Given the description of an element on the screen output the (x, y) to click on. 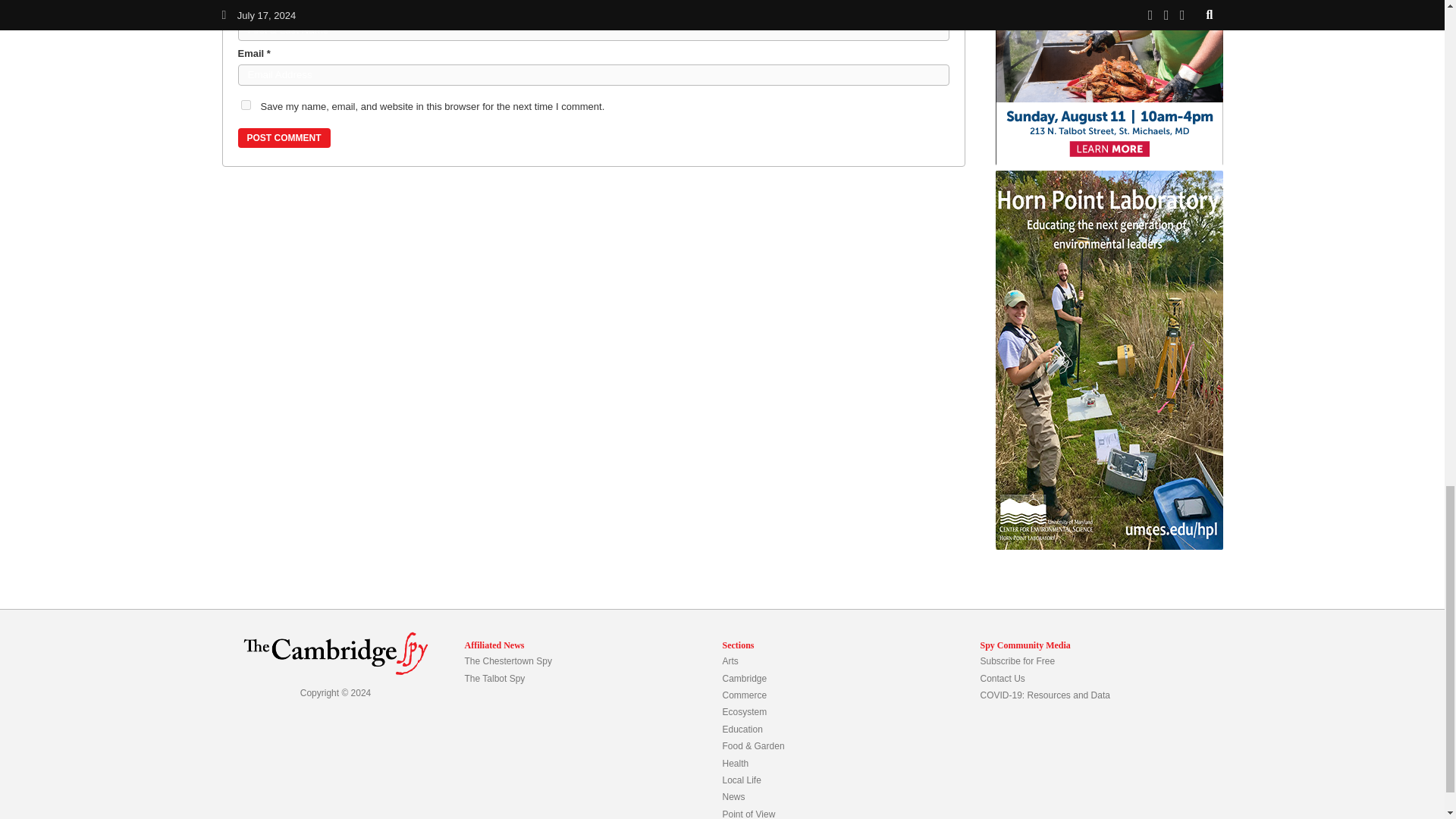
Post Comment (284, 137)
yes (245, 104)
